Given the description of an element on the screen output the (x, y) to click on. 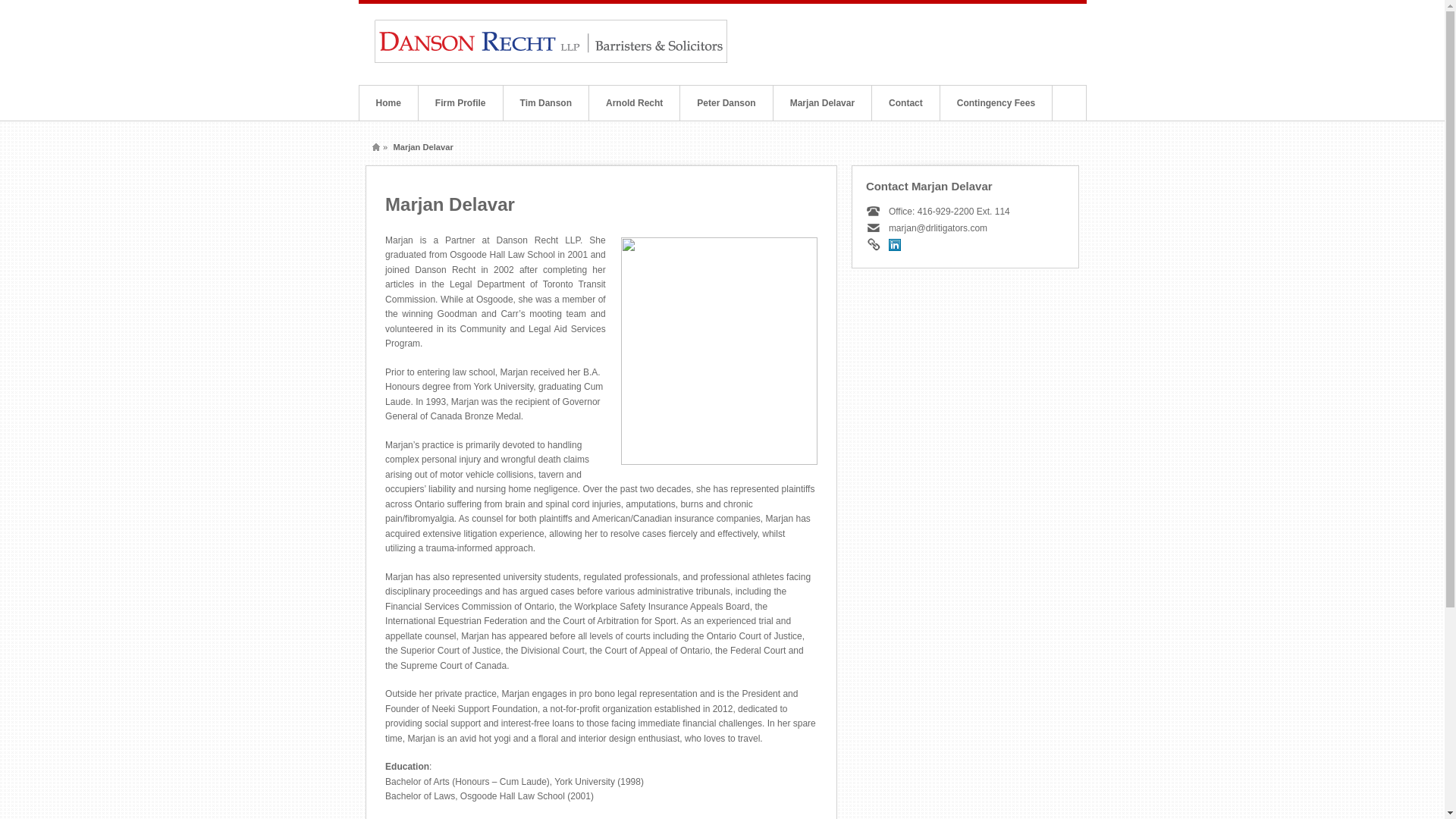
Danson Recht LLP (550, 61)
Home (388, 102)
Linkedin (894, 244)
Marjan Delavar (821, 102)
Arnold Recht (634, 102)
Contingency Fees (995, 102)
Peter Danson (725, 102)
Tim Danson (545, 102)
Contact (905, 102)
Linkedin (894, 244)
Firm Profile (460, 102)
